Given the description of an element on the screen output the (x, y) to click on. 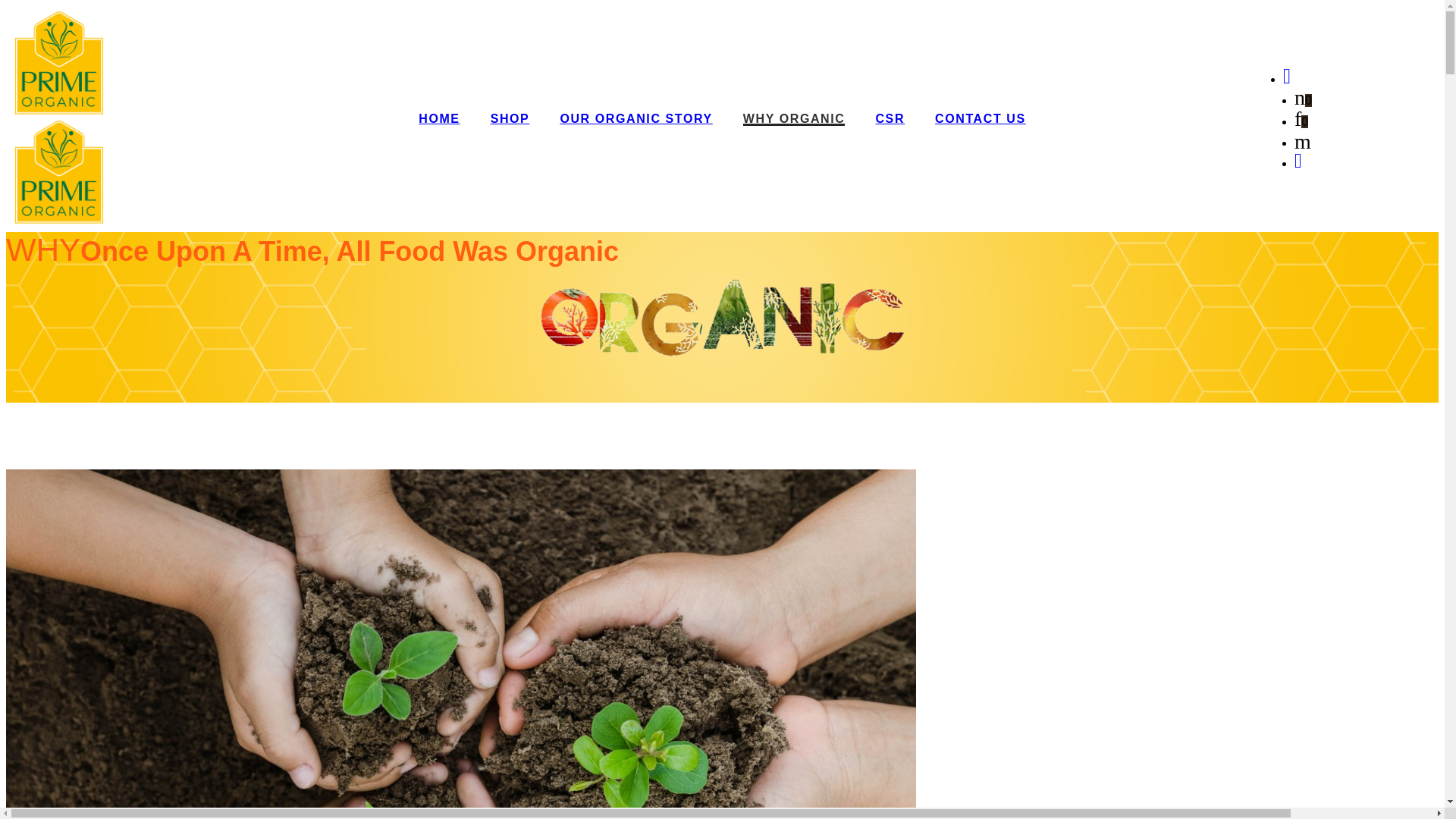
Search (1302, 142)
SHOP (509, 118)
OUR ORGANIC STORY (635, 118)
0 (1302, 100)
0 (1300, 121)
Wishlist (1300, 121)
Cart (1302, 100)
OUR ORGANIC STORY (635, 118)
CONTACT US (980, 118)
CONTACT US (980, 118)
